Given the description of an element on the screen output the (x, y) to click on. 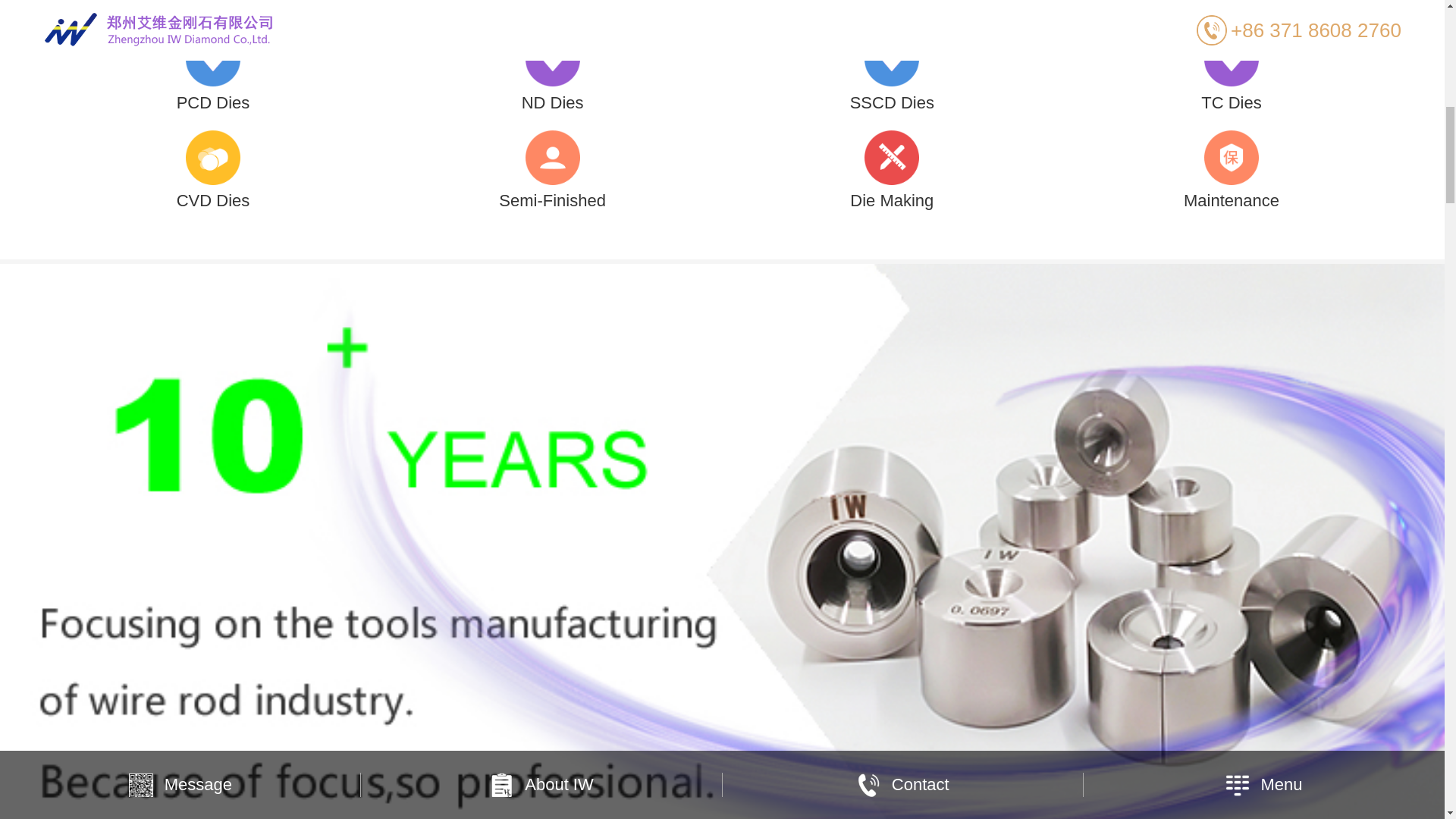
PCD Dies (212, 69)
Semi-Finished (552, 167)
CVD Dies (212, 167)
TC Dies (1230, 69)
SSCD Dies (891, 69)
Maintenance (1230, 167)
ND Dies (552, 69)
Die Making (891, 167)
